Given the description of an element on the screen output the (x, y) to click on. 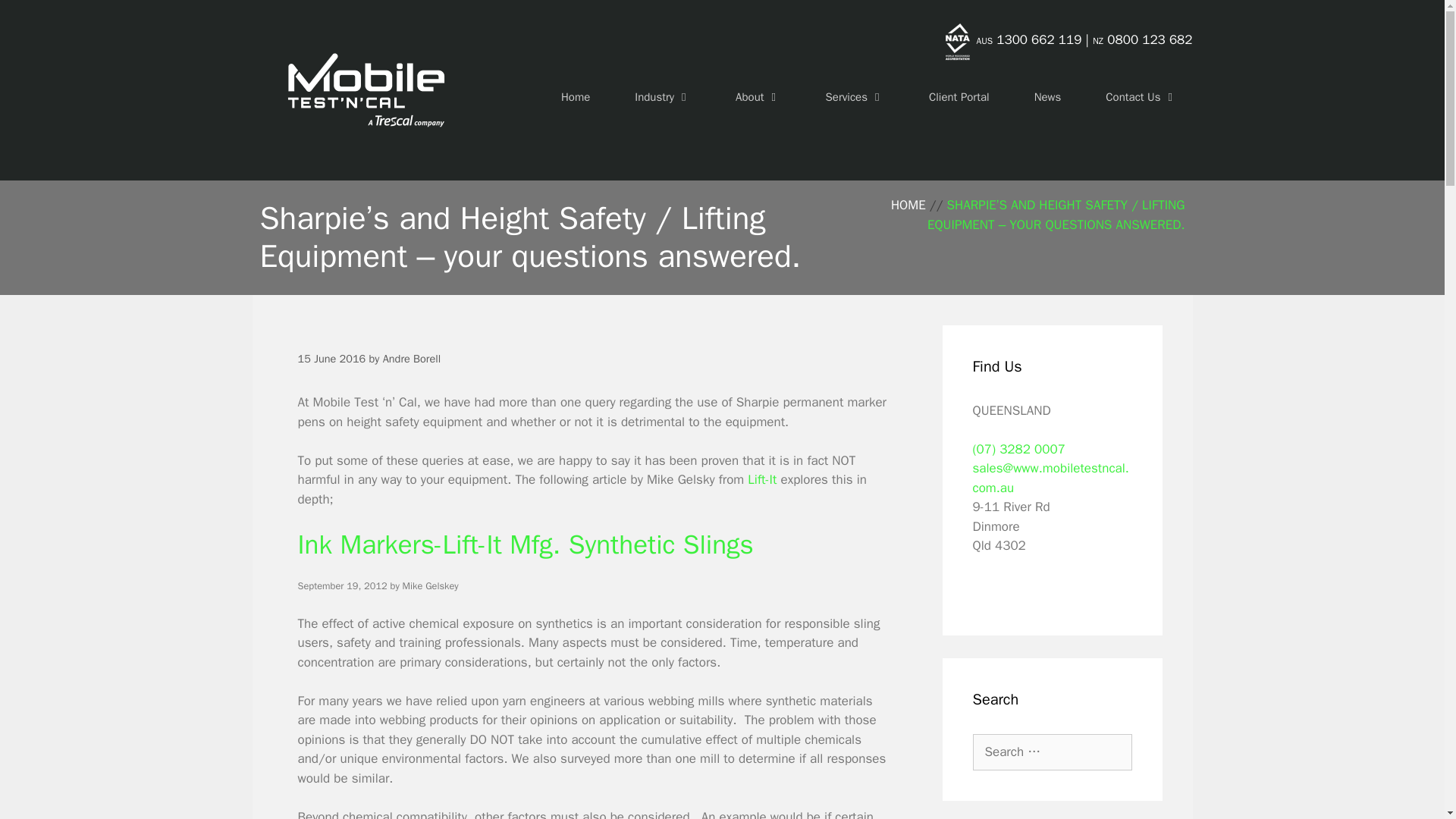
Home (575, 96)
HOME (908, 204)
Contact Us (1141, 96)
Search for: (1051, 751)
About (757, 96)
Services (854, 96)
0800 123 682 (1149, 39)
Client Portal (959, 96)
Industry (663, 96)
1300 662 119 (1038, 39)
News (1048, 96)
